Given the description of an element on the screen output the (x, y) to click on. 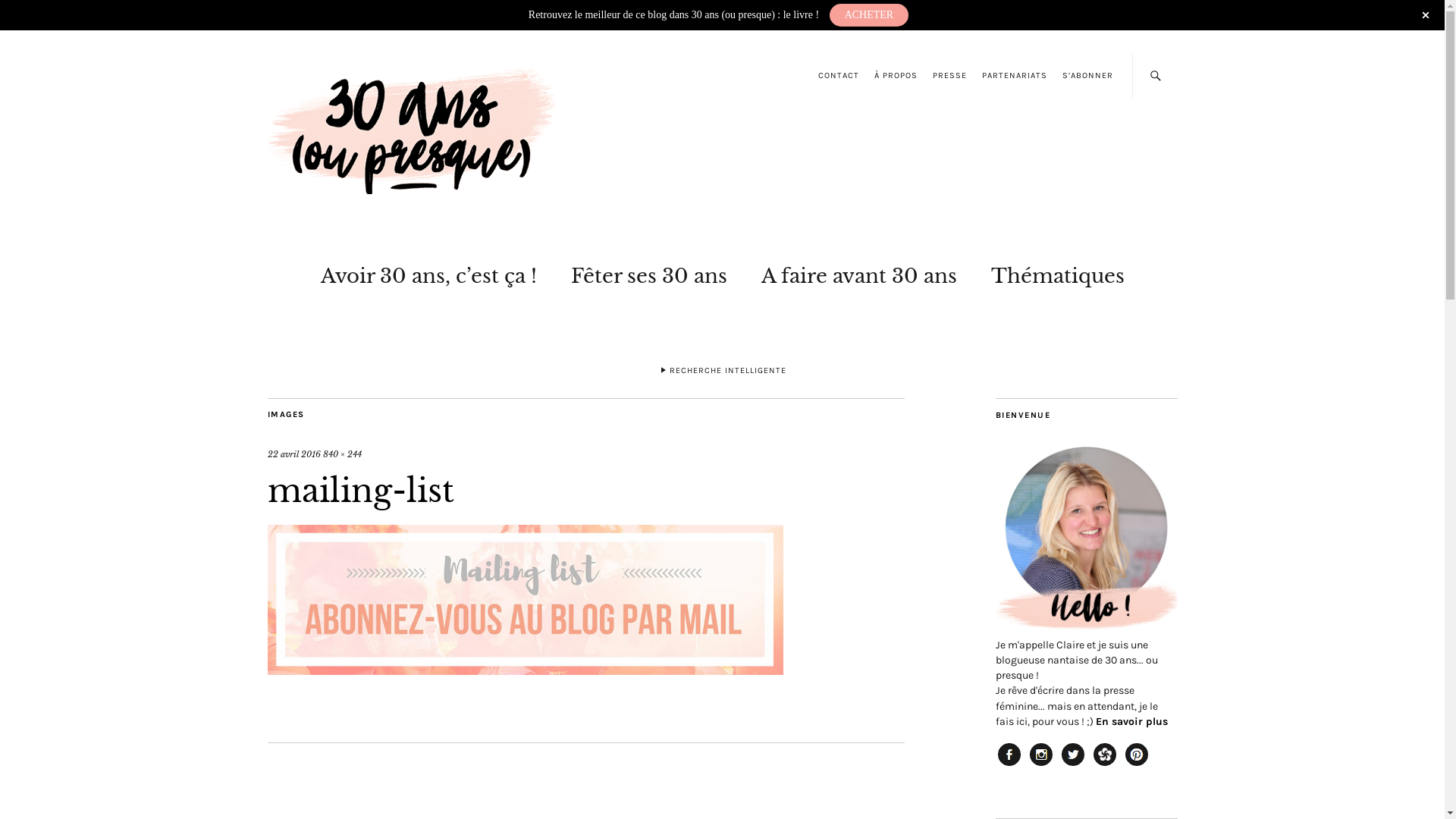
ACHETER Element type: text (869, 14)
22 avril 2016 Element type: text (293, 453)
CONTACT Element type: text (837, 75)
mailing-list Element type: hover (524, 669)
En savoir plus Element type: text (1131, 721)
A faire avant 30 ans Element type: text (859, 272)
PARTENARIATS Element type: text (1013, 75)
RECHERCHE INTELLIGENTE Element type: text (721, 372)
PRESSE Element type: text (949, 75)
